Given the description of an element on the screen output the (x, y) to click on. 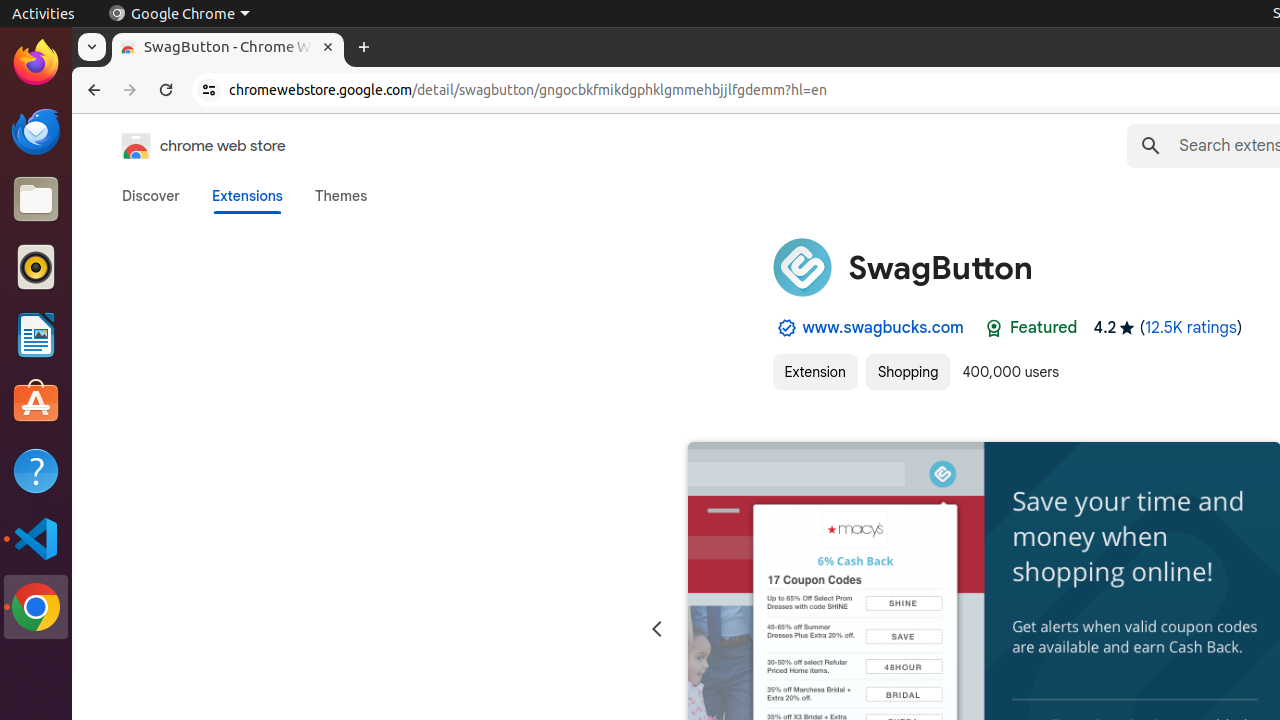
Firefox Web Browser Element type: push-button (36, 63)
Help Element type: push-button (36, 470)
Themes Element type: page-tab (341, 196)
Files Element type: push-button (36, 199)
Forward Element type: push-button (130, 90)
